Given the description of an element on the screen output the (x, y) to click on. 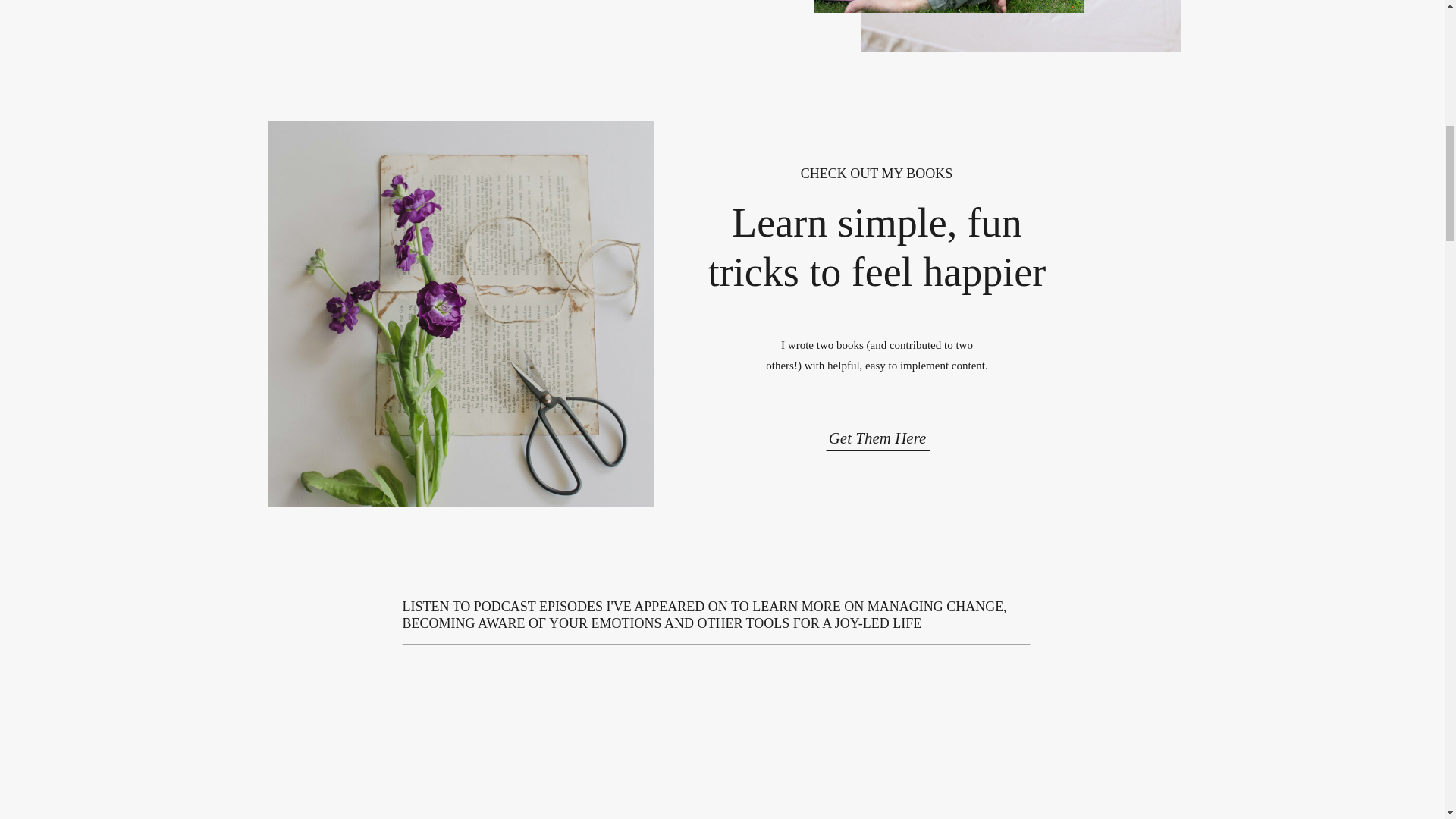
Get Them Here (877, 434)
